Given the description of an element on the screen output the (x, y) to click on. 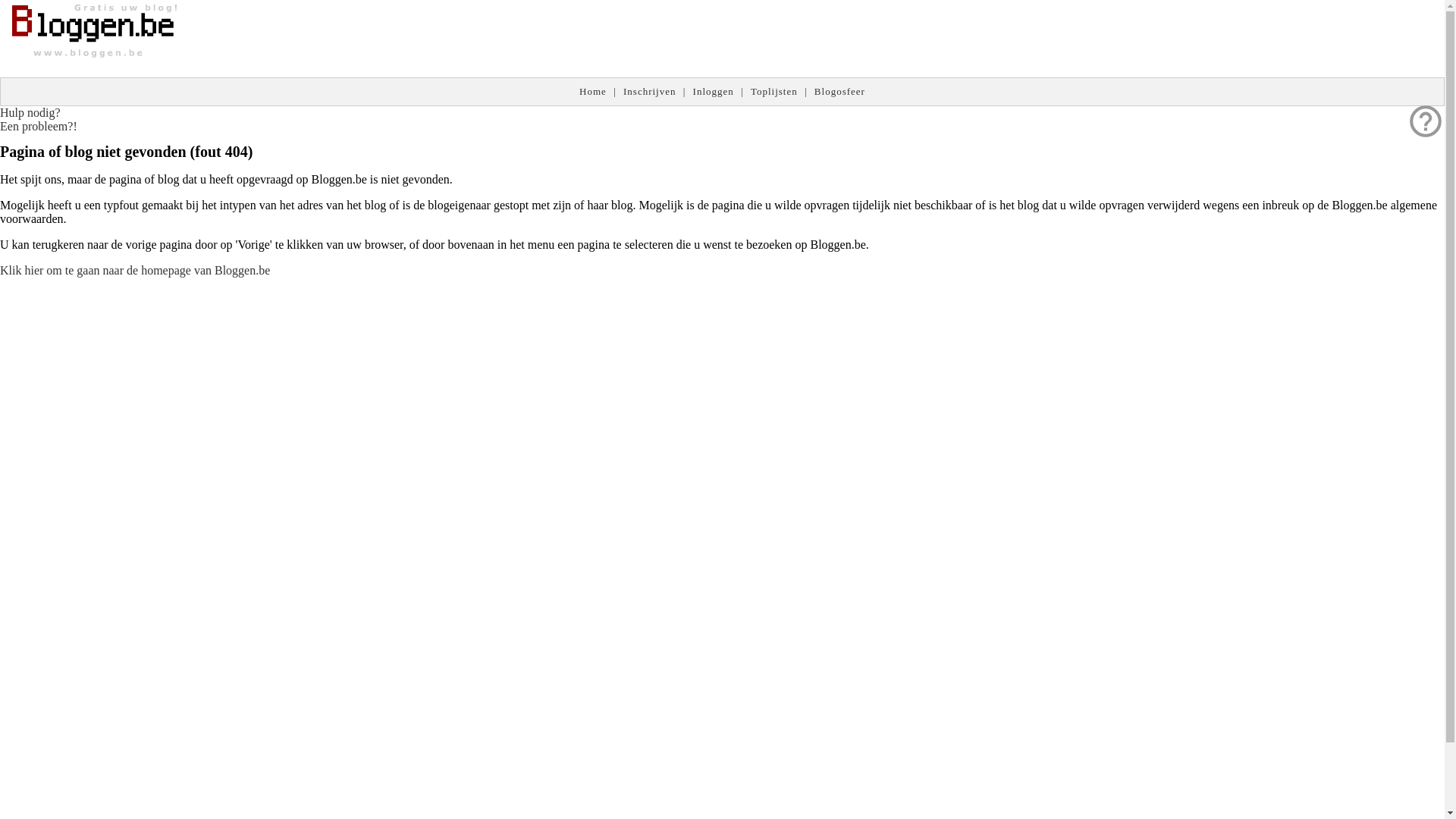
Blogosfeer Element type: text (839, 91)
Inloggen Element type: text (713, 91)
Home Element type: text (592, 91)
Inschrijven Element type: text (649, 91)
help_outline
Hulp nodig?
Een probleem?! Element type: text (38, 119)
Klik hier om te gaan naar de homepage van Bloggen.be Element type: text (134, 269)
Toplijsten Element type: text (773, 91)
